Given the description of an element on the screen output the (x, y) to click on. 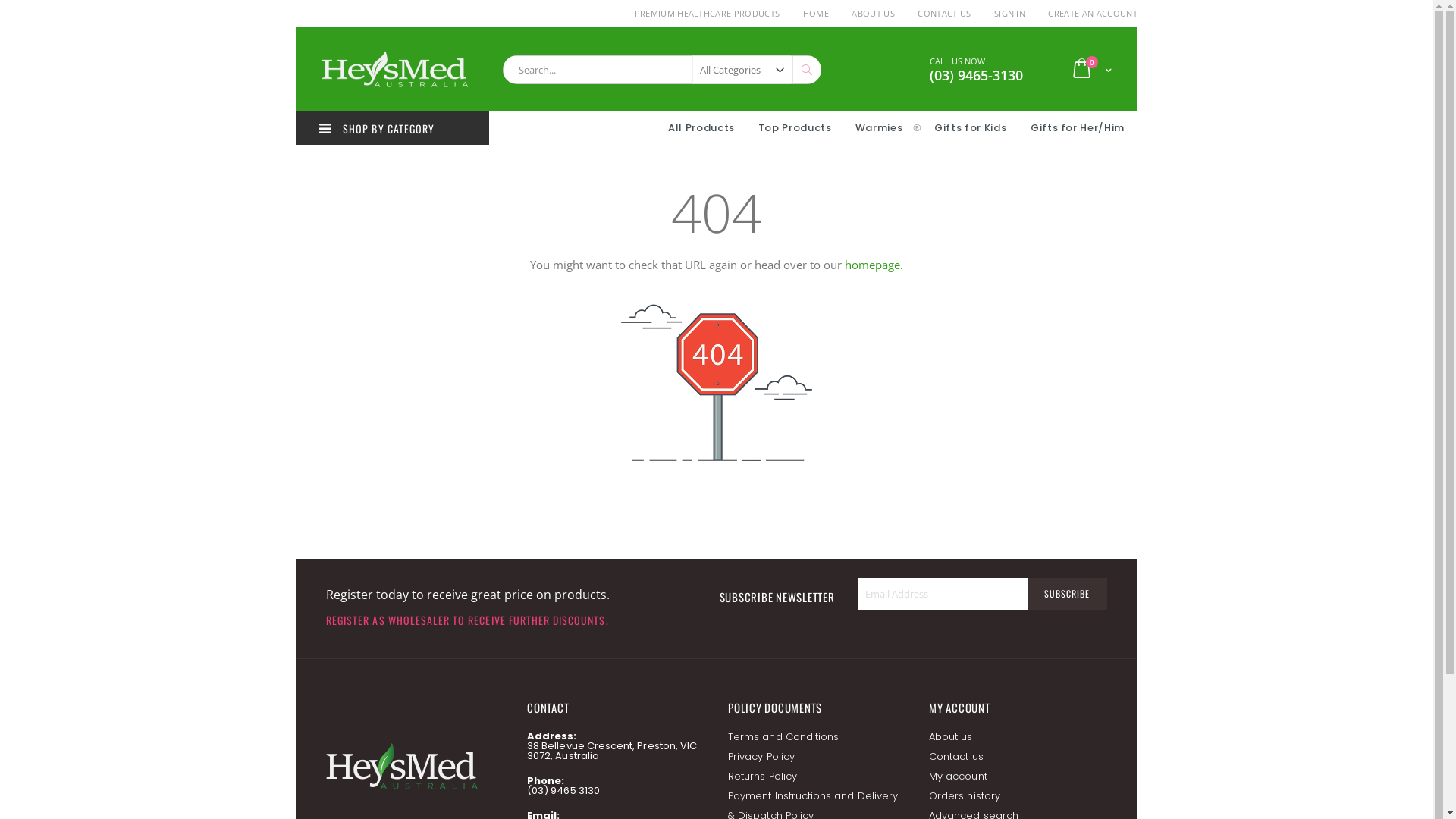
Gifts for Kids Element type: text (971, 127)
Cart
0 Element type: text (1090, 69)
Contact us Element type: text (955, 756)
Privacy Policy Element type: text (761, 756)
SIGN IN Element type: text (1009, 12)
CONTACT US Element type: text (944, 12)
All Products Element type: text (701, 127)
Top Products Element type: text (794, 127)
Search Element type: text (805, 69)
CREATE AN ACCOUNT Element type: text (1086, 12)
Orders history Element type: text (964, 795)
Skip to Content Element type: text (294, 6)
Warmies Element type: text (878, 127)
Gifts for Her/Him Element type: text (1077, 127)
HOME Element type: text (815, 12)
SUBSCRIBE Element type: text (1066, 593)
homepage. Element type: text (873, 264)
SHOP BY CATEGORY Element type: text (392, 127)
My account Element type: text (957, 775)
Terms and Conditions Element type: text (783, 736)
REGISTER AS WHOLESALER TO RECEIVE FURTHER DISCOUNTS. Element type: text (467, 619)
ABOUT US Element type: text (873, 12)
HeysMed - Premium Healthcare Products Element type: hover (394, 69)
Returns Policy Element type: text (762, 775)
About us Element type: text (950, 736)
